Given the description of an element on the screen output the (x, y) to click on. 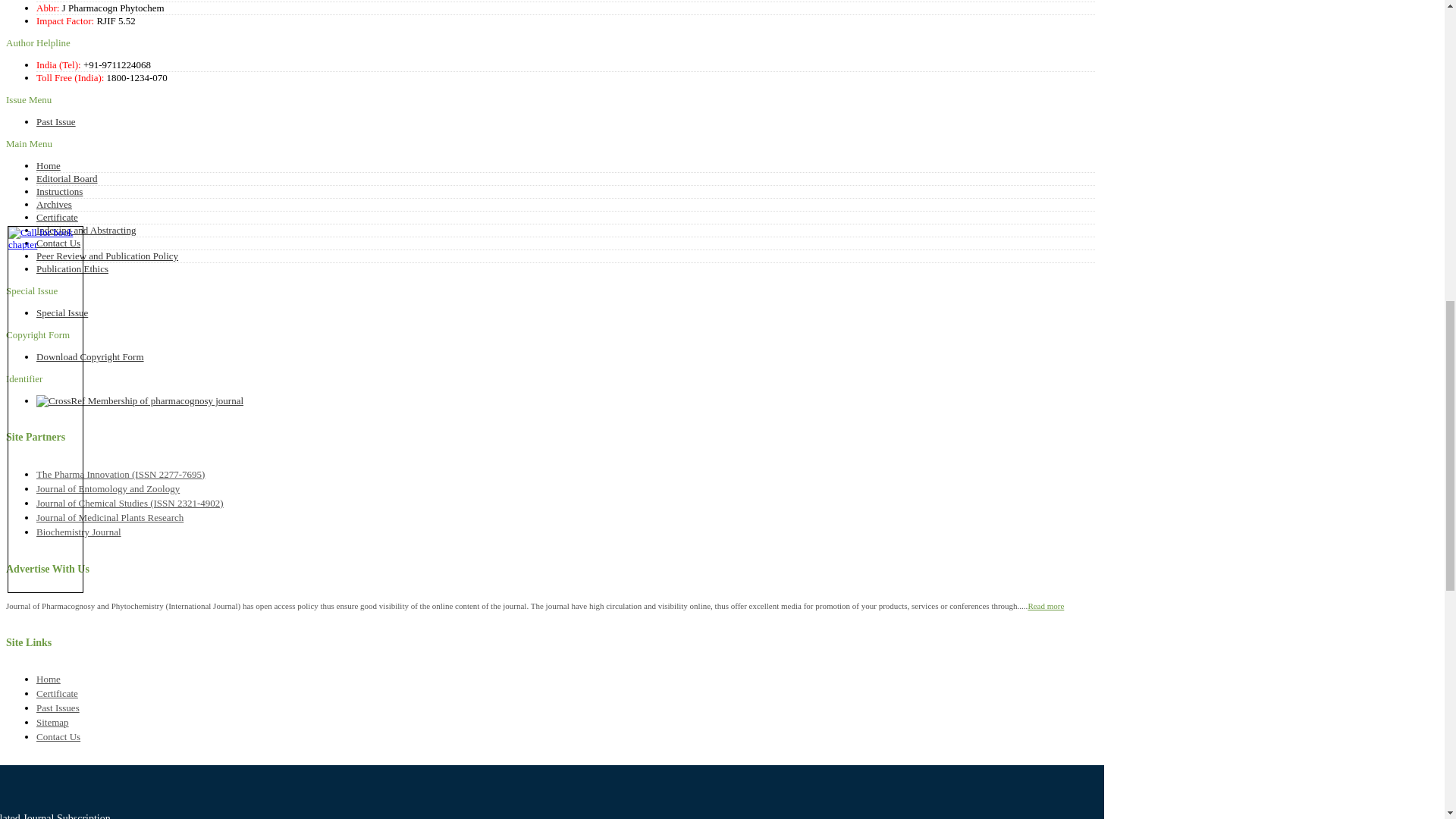
Publication Ethics (71, 268)
Contact Us (58, 242)
Archives (53, 204)
Read more (1045, 605)
Home (48, 678)
Editorial Board (66, 178)
Past Issue (55, 121)
Instructions (59, 191)
Journal of Entomology and Zoology (107, 488)
Peer Review and Publication Policy (106, 255)
Journal of Medicinal Plants Research (109, 517)
Biochemistry Journal (78, 531)
Certificate (57, 216)
Indexing and Abstracting (85, 229)
Certificate (57, 693)
